Given the description of an element on the screen output the (x, y) to click on. 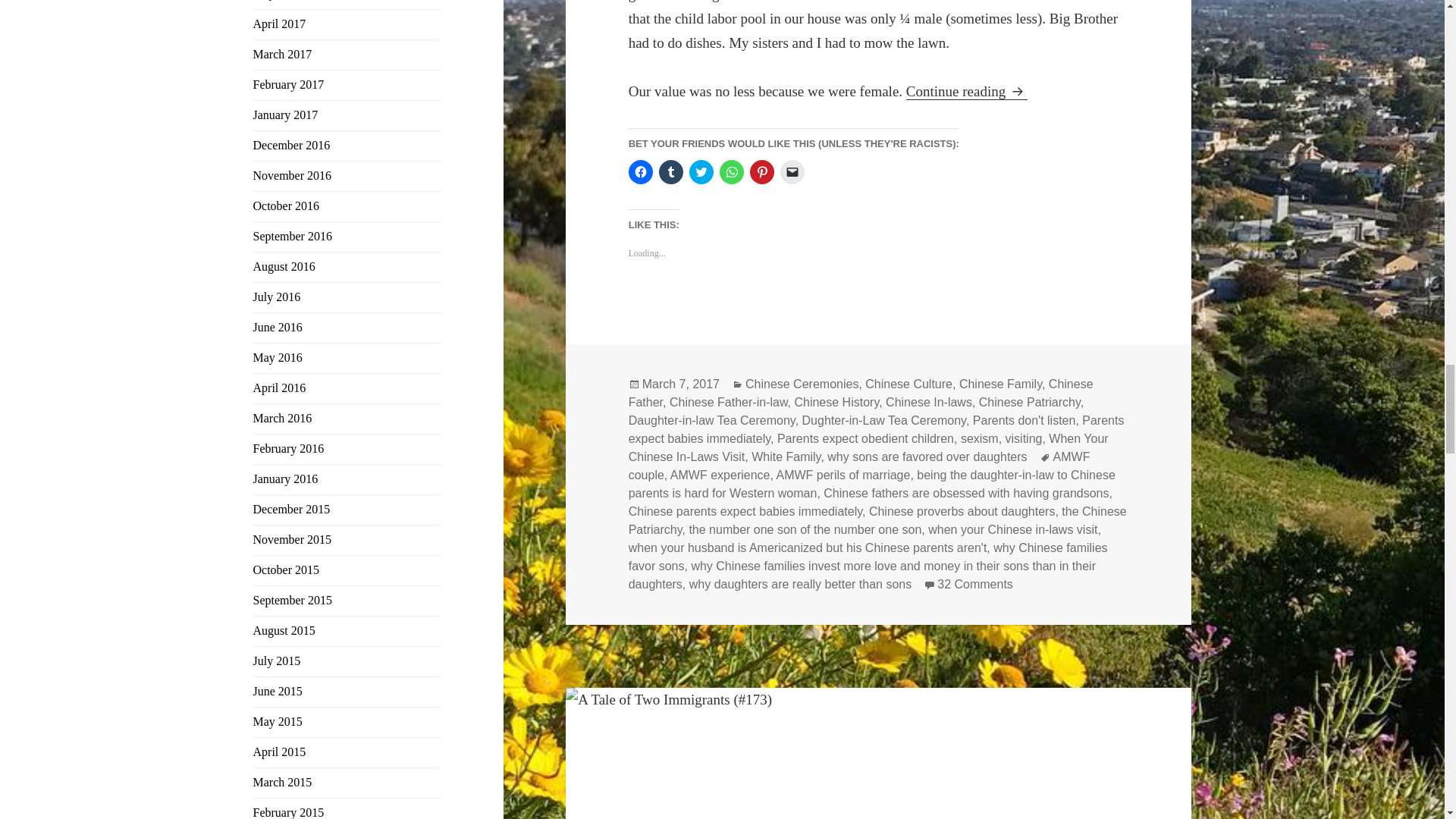
Click to share on Facebook (640, 171)
